Given the description of an element on the screen output the (x, y) to click on. 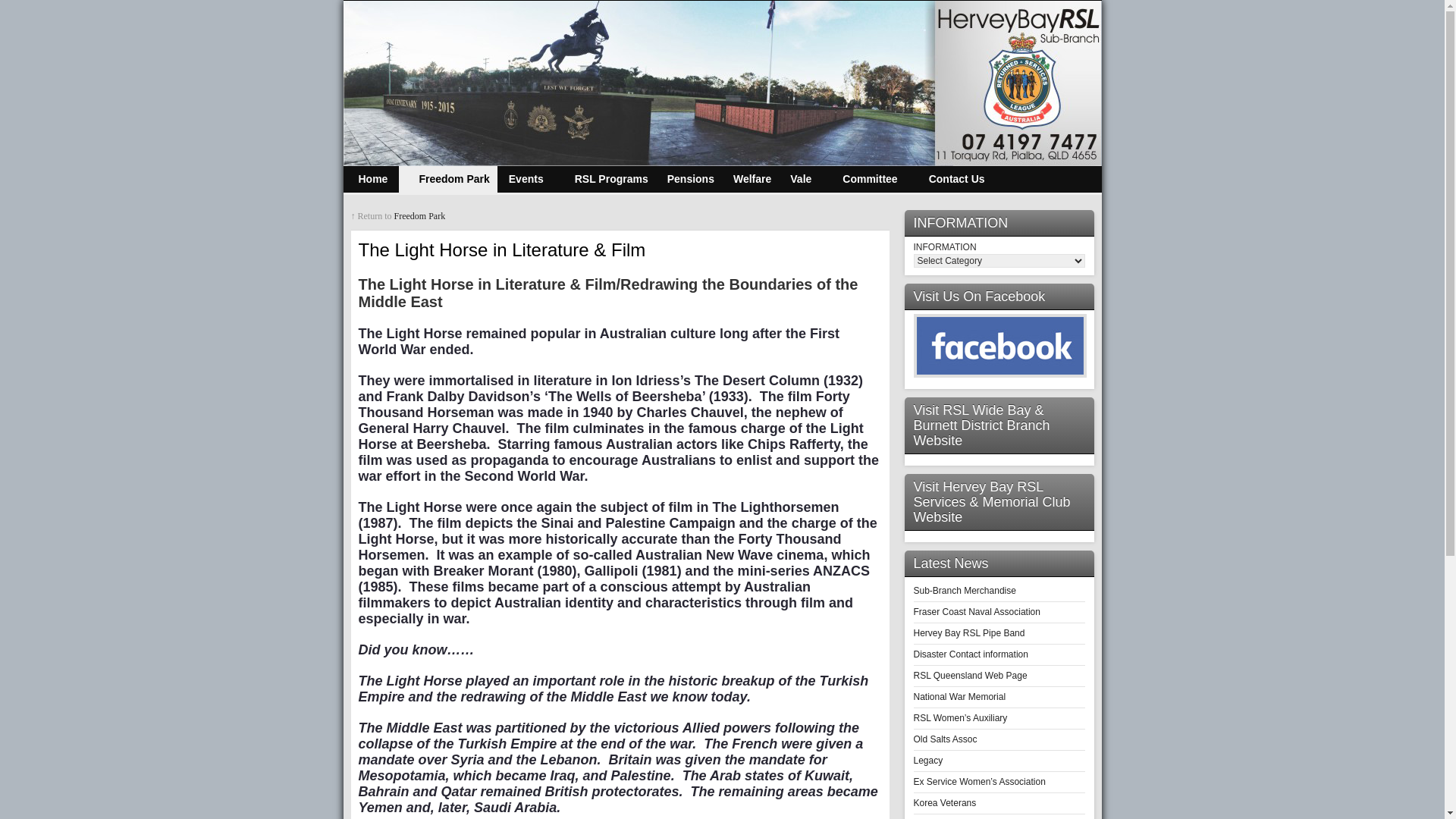
Disaster Contact information Element type: text (970, 654)
Visit Hervey Bay RSL Services & Memorial Club Website Element type: text (998, 501)
RSL Programs Element type: text (605, 179)
Committee Element type: text (863, 179)
Sub-Branch Merchandise Element type: text (964, 590)
Visit RSL Wide Bay & Burnett District Branch Website Element type: text (998, 425)
Korea Veterans Element type: text (944, 802)
Contact Us Element type: text (950, 179)
Vale Element type: text (800, 179)
Home Element type: text (372, 179)
Old Salts Assoc Element type: text (944, 739)
Legacy Element type: text (927, 760)
Freedom Park Element type: text (447, 179)
Pensions Element type: text (690, 179)
RSL Queensland Web Page Element type: text (969, 675)
Freedom Park Element type: text (419, 215)
National War Memorial Element type: text (959, 696)
Events Element type: text (526, 179)
Hervey Bay RSL Pipe Band Element type: text (968, 632)
Fraser Coast Naval Association Element type: text (976, 611)
Welfare Element type: text (751, 179)
